Given the description of an element on the screen output the (x, y) to click on. 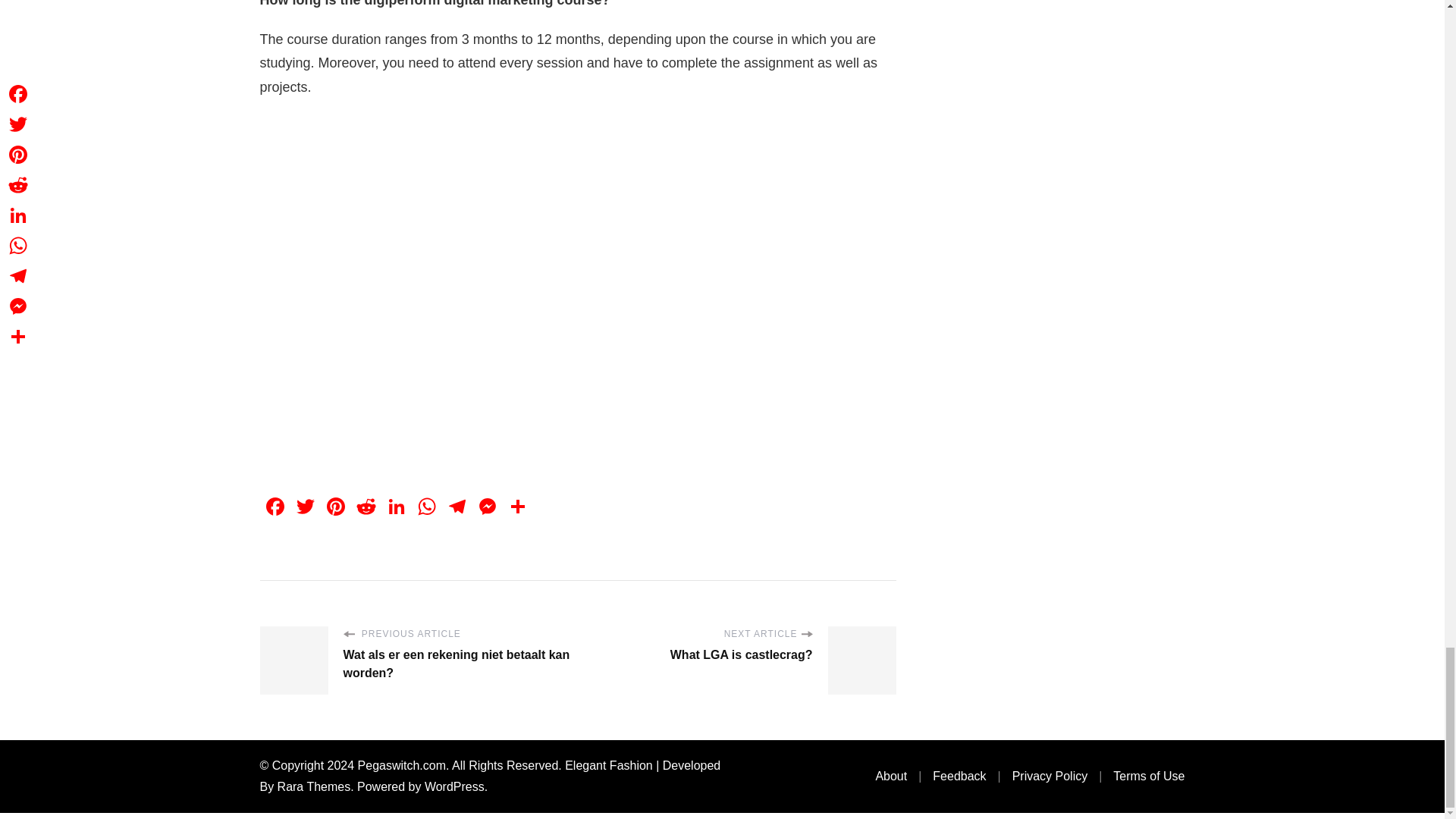
Facebook (274, 508)
Pinterest (335, 508)
Messenger (486, 508)
Twitter (304, 508)
Pegaswitch.com (401, 765)
Facebook (274, 508)
Reddit (365, 508)
Messenger (486, 508)
WordPress (454, 786)
Rara Themes (314, 786)
LinkedIn (395, 508)
Telegram (456, 508)
Pinterest (335, 508)
Telegram (456, 508)
Reddit (365, 508)
